Given the description of an element on the screen output the (x, y) to click on. 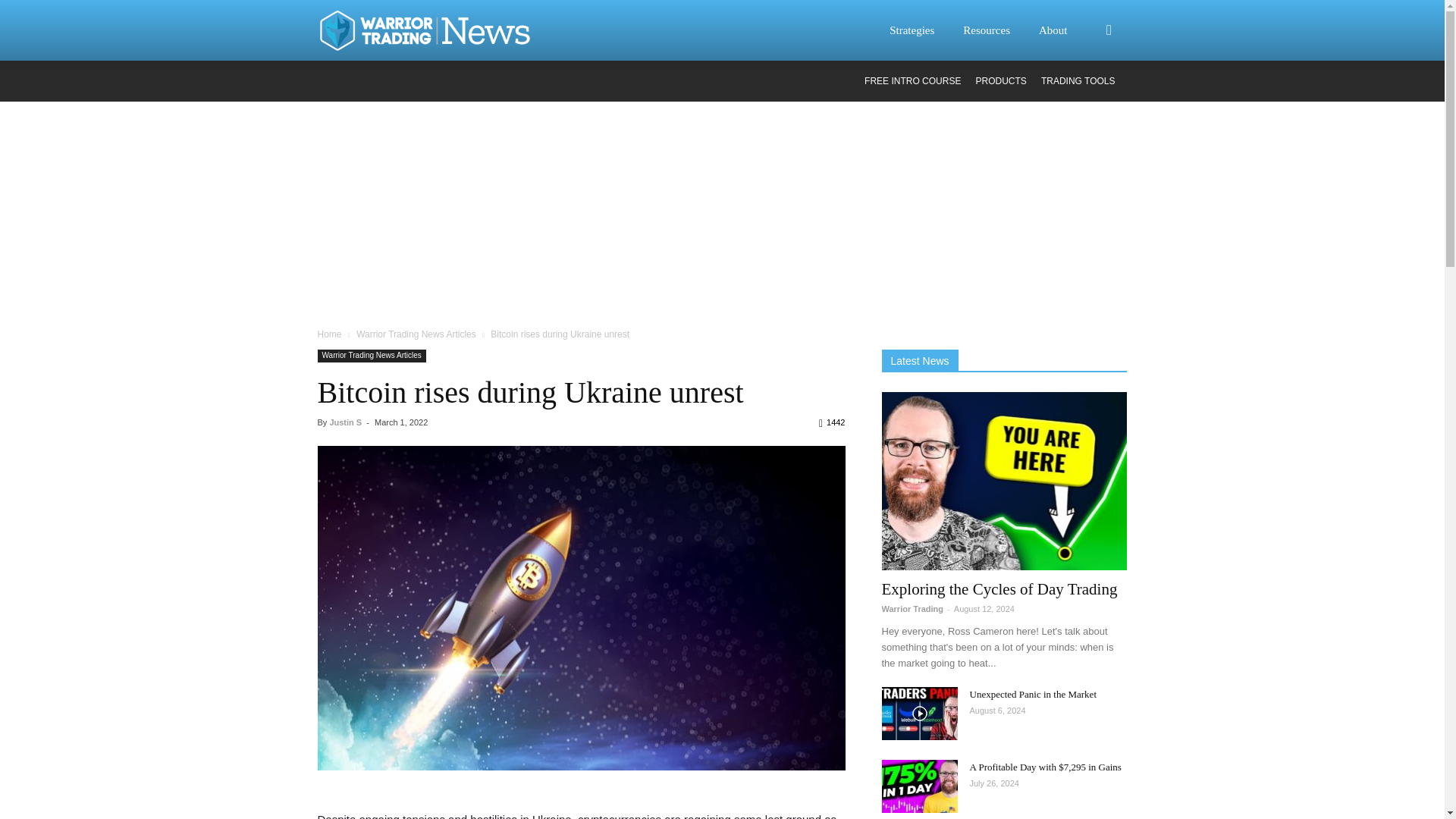
FREE INTRO COURSE (912, 81)
Resources (995, 30)
About (1061, 30)
View all posts in Warrior Trading News Articles (416, 334)
PRODUCTS (1000, 81)
Strategies (920, 30)
Exploring the Cycles of Day Trading (1003, 481)
